Given the description of an element on the screen output the (x, y) to click on. 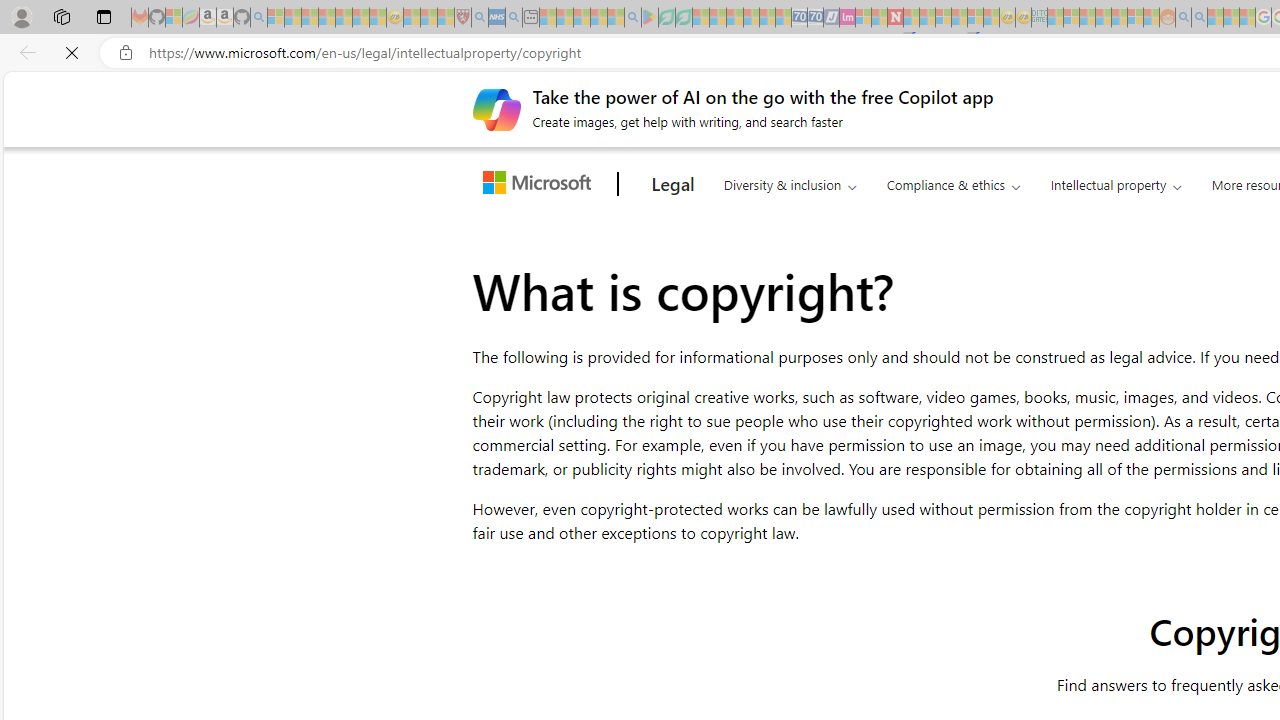
Create images, get help with writing, and search faster (496, 108)
